Given the description of an element on the screen output the (x, y) to click on. 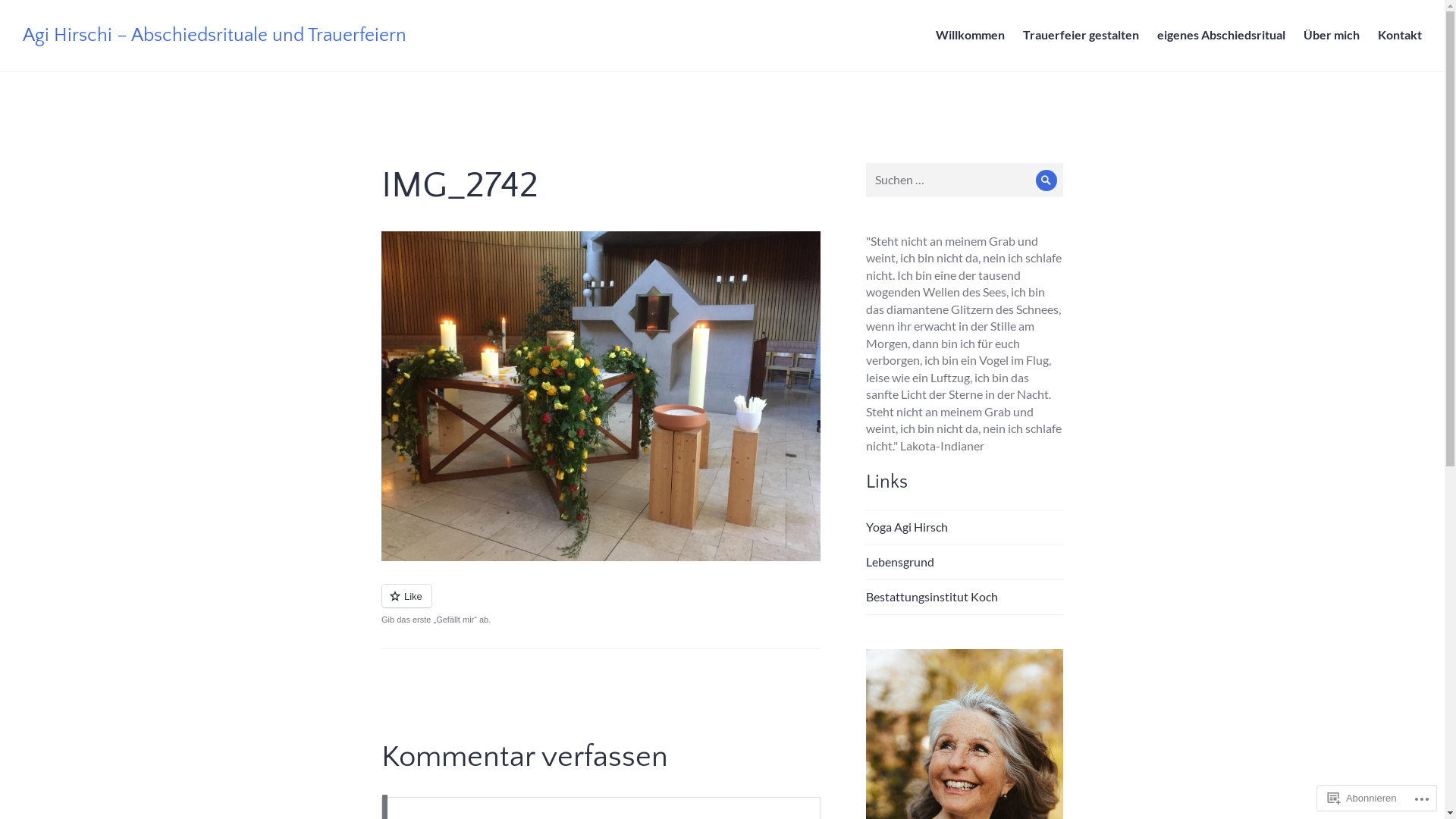
Suche nach: Element type: hover (964, 180)
Yoga Agi Hirsch Element type: text (906, 526)
Lebensgrund Element type: text (900, 561)
Kontakt Element type: text (1399, 35)
Trauerfeier gestalten Element type: text (1080, 35)
Bestattungsinstitut Koch Element type: text (931, 596)
Liken oder rebloggen Element type: hover (600, 604)
Abonnieren Element type: text (1361, 797)
Willkommen Element type: text (969, 35)
eigenes Abschiedsritual Element type: text (1221, 35)
